Given the description of an element on the screen output the (x, y) to click on. 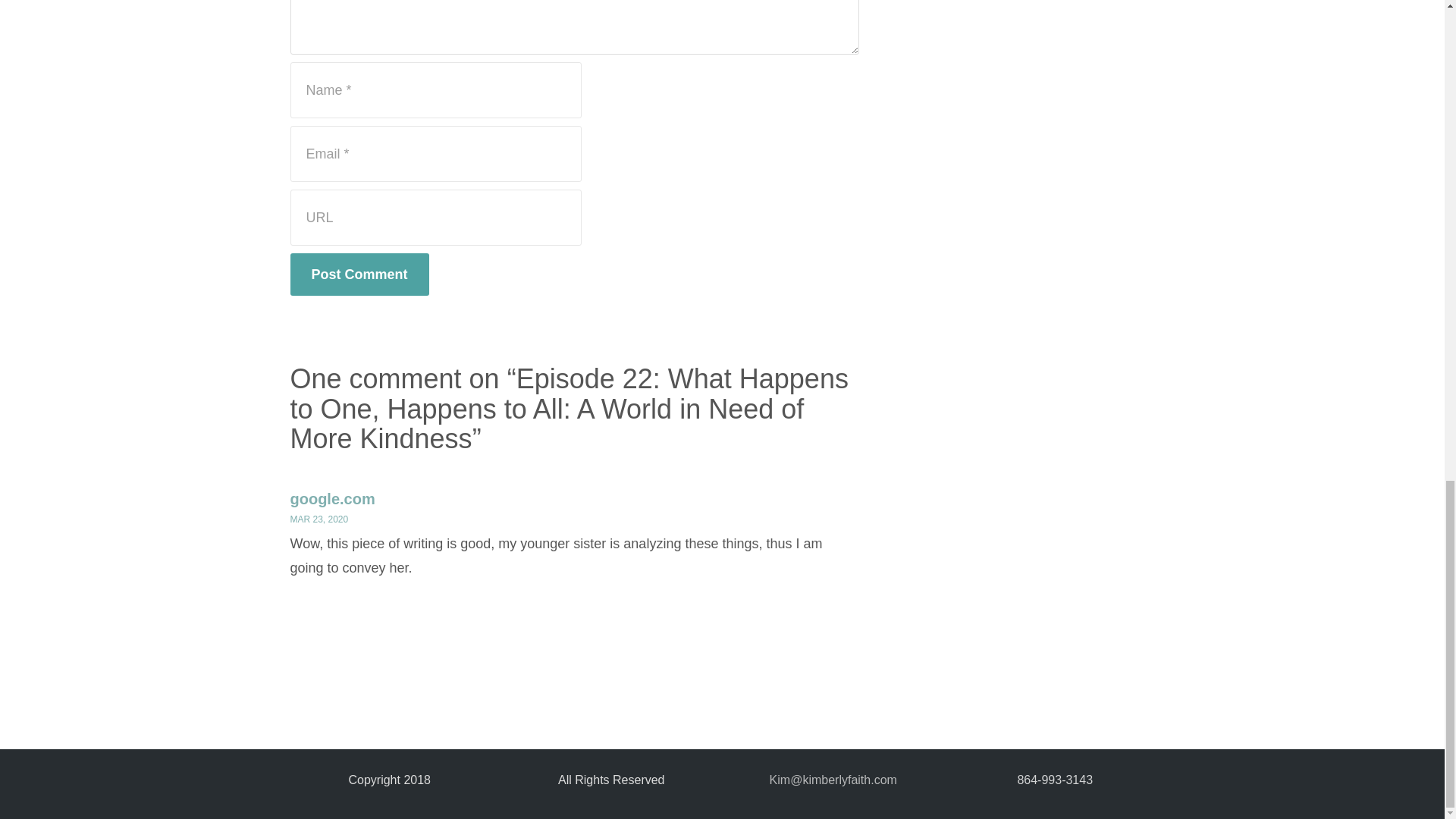
864-993-3143 (1054, 779)
Post Comment (358, 274)
MAR 23, 2020 (318, 519)
Post Comment (358, 274)
Reply (834, 599)
google.com (331, 498)
